Given the description of an element on the screen output the (x, y) to click on. 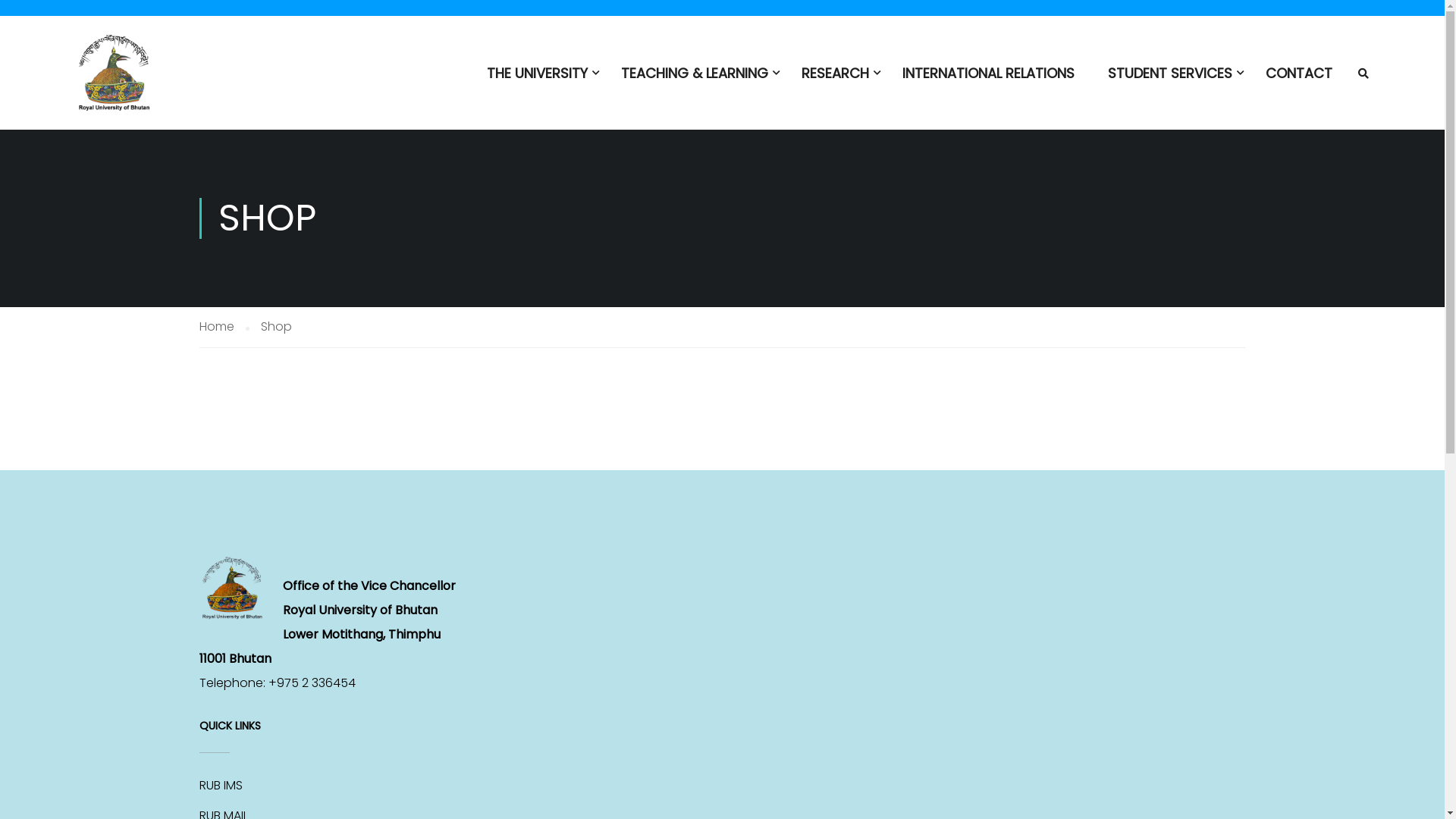
CONTACT Element type: text (1298, 80)
INTERNATIONAL RELATIONS Element type: text (988, 80)
RUB IMS Element type: text (219, 784)
Home Element type: text (223, 325)
THE UNIVERSITY Element type: text (536, 80)
TEACHING & LEARNING Element type: text (694, 80)
STUDENT SERVICES Element type: text (1169, 80)
RESEARCH Element type: text (835, 80)
